Given the description of an element on the screen output the (x, y) to click on. 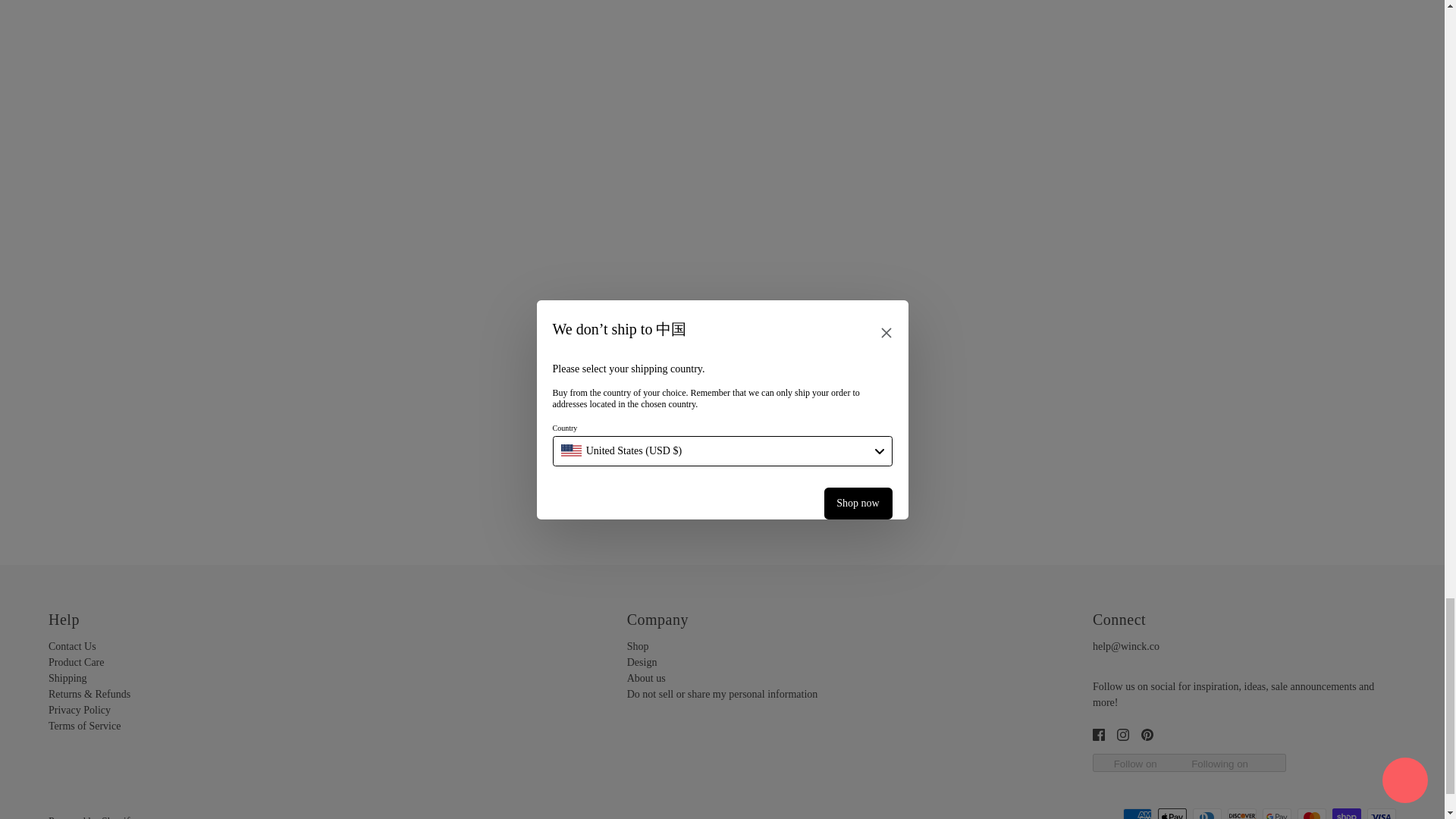
Shipping (67, 677)
Shop (638, 645)
Design (642, 662)
Design (642, 662)
Contact Us (72, 645)
About us (646, 677)
About us (646, 677)
Terms of Service (84, 726)
Shipping (67, 677)
Contact Us (72, 645)
